Given the description of an element on the screen output the (x, y) to click on. 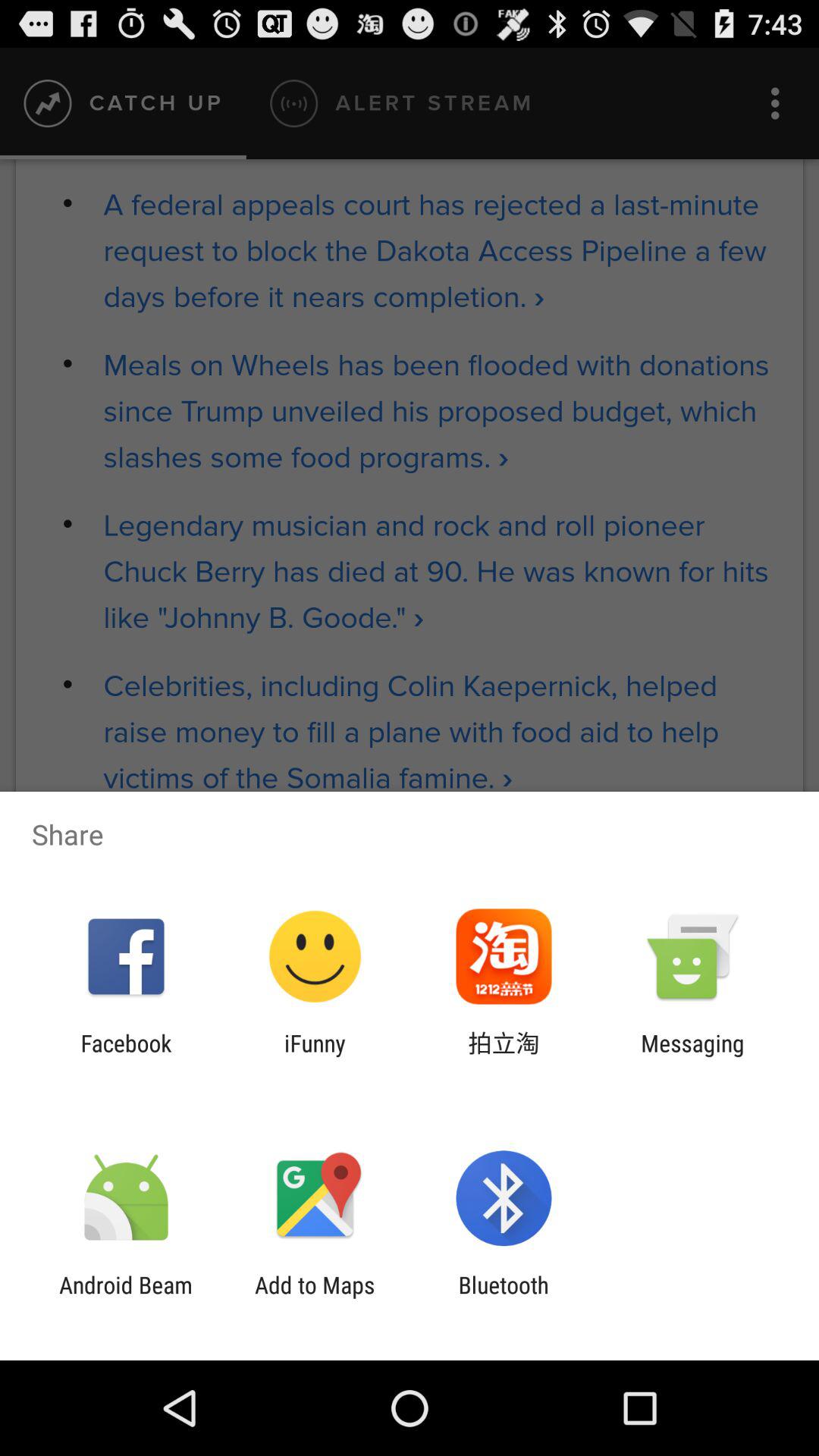
open the add to maps app (314, 1298)
